Given the description of an element on the screen output the (x, y) to click on. 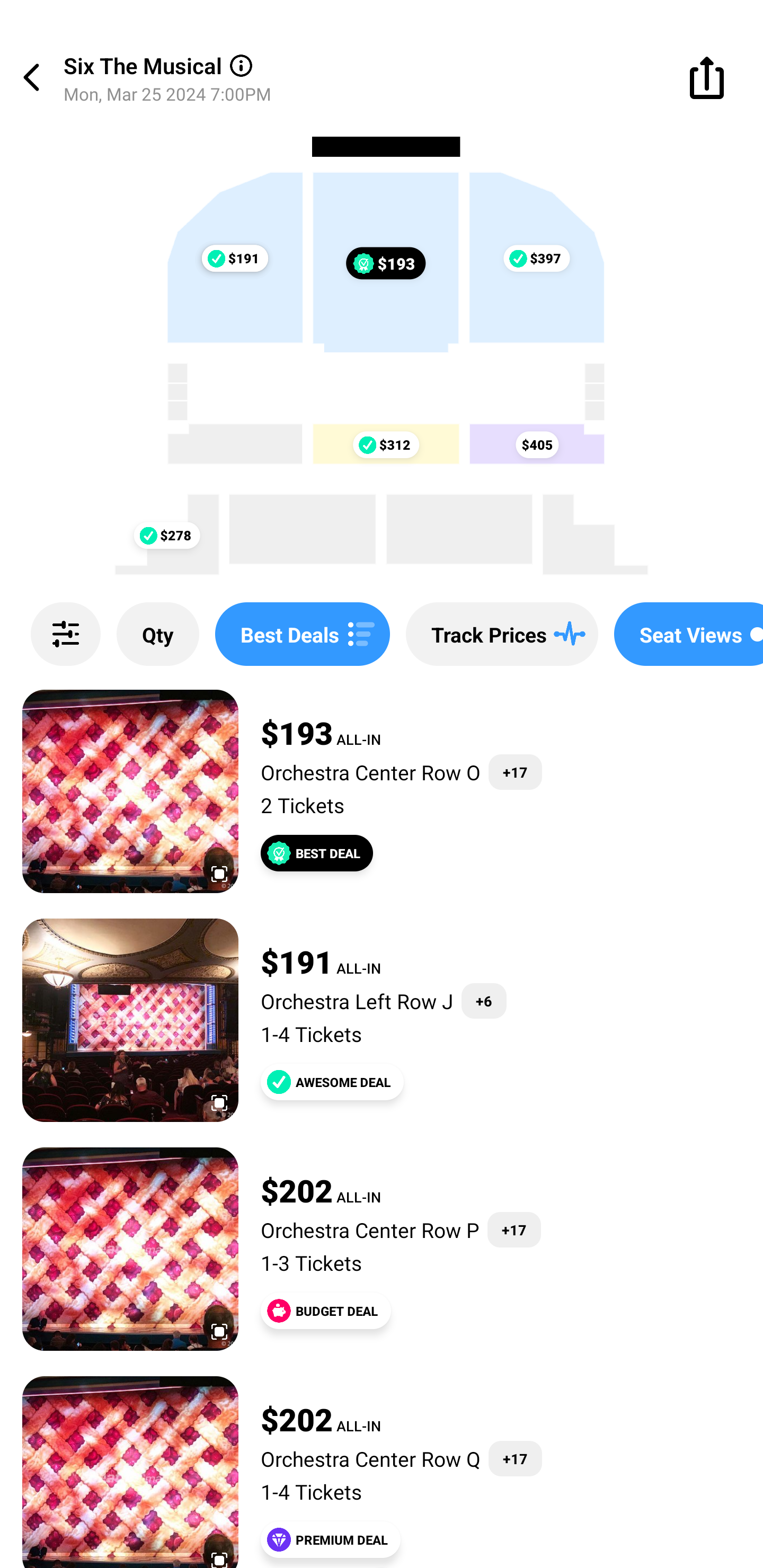
$747 (236, 258)
$397 (529, 258)
$193 (385, 263)
$312 (385, 444)
$405 (535, 444)
Qty (157, 634)
Best Deals (302, 634)
Track Prices (501, 634)
Seat Views (688, 634)
+17 (514, 772)
BEST DEAL (316, 852)
+6 (483, 1001)
AWESOME DEAL (331, 1081)
+17 (513, 1230)
BUDGET DEAL (325, 1310)
+17 (514, 1458)
PREMIUM DEAL (330, 1539)
